Given the description of an element on the screen output the (x, y) to click on. 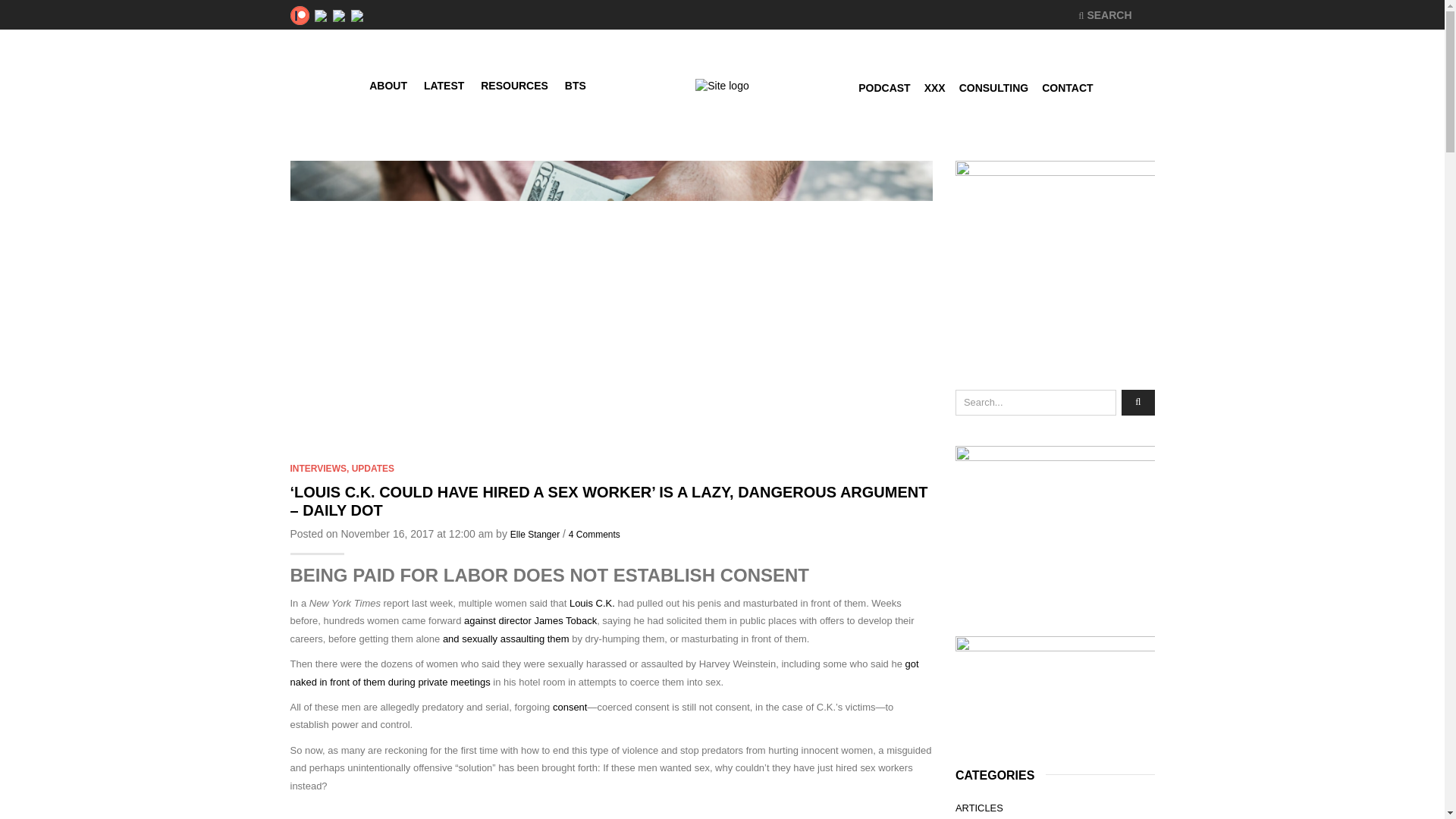
consent (569, 706)
RESOURCES (514, 83)
Elle Stanger (535, 534)
SEARCH (1104, 15)
4 Comments (594, 534)
LATEST (443, 83)
INTERVIEWS (317, 468)
and sexually assaulting them (505, 638)
against director James Toback (530, 620)
